Given the description of an element on the screen output the (x, y) to click on. 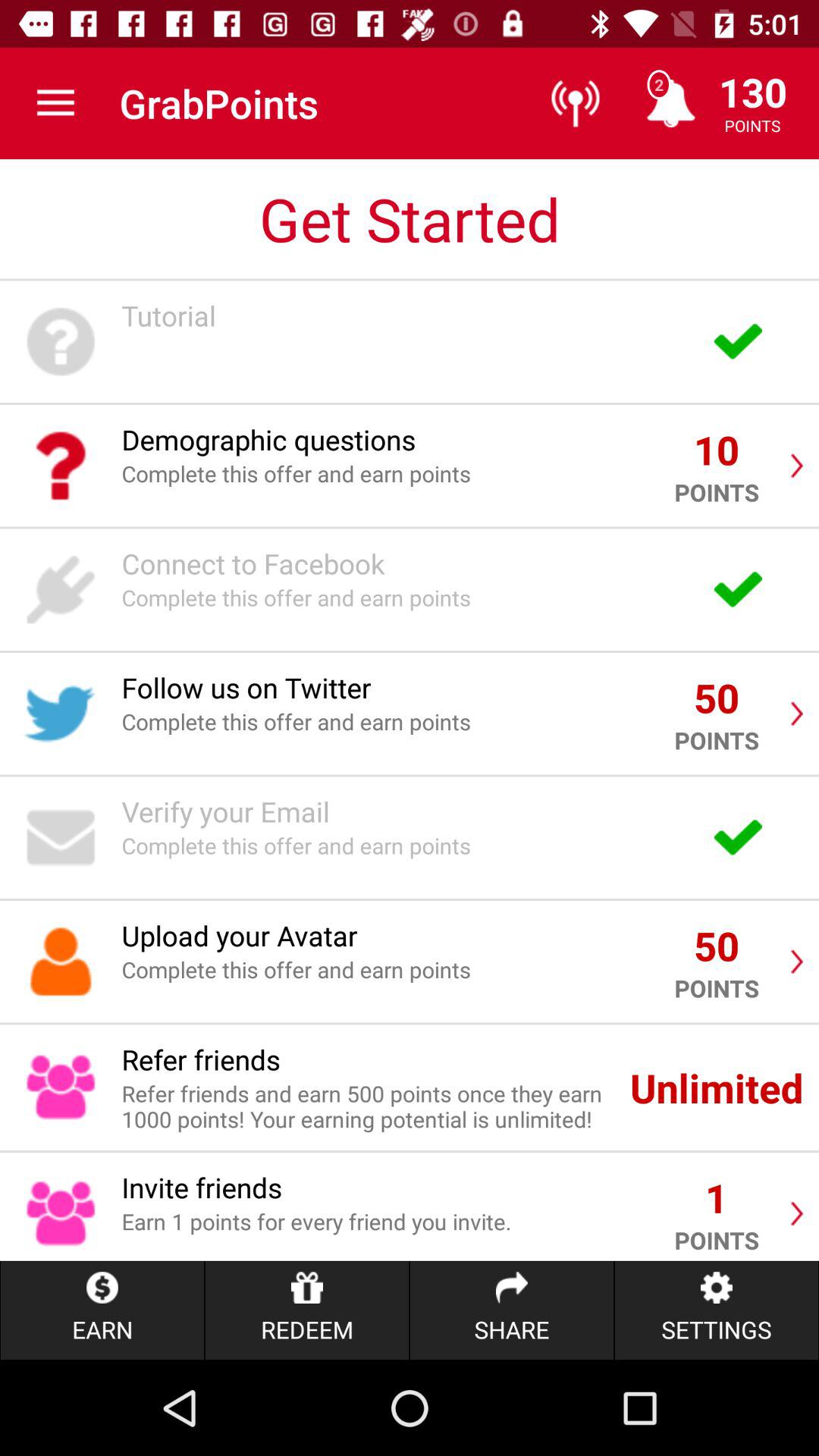
press the icon to the left of the grabpoints (55, 103)
